Given the description of an element on the screen output the (x, y) to click on. 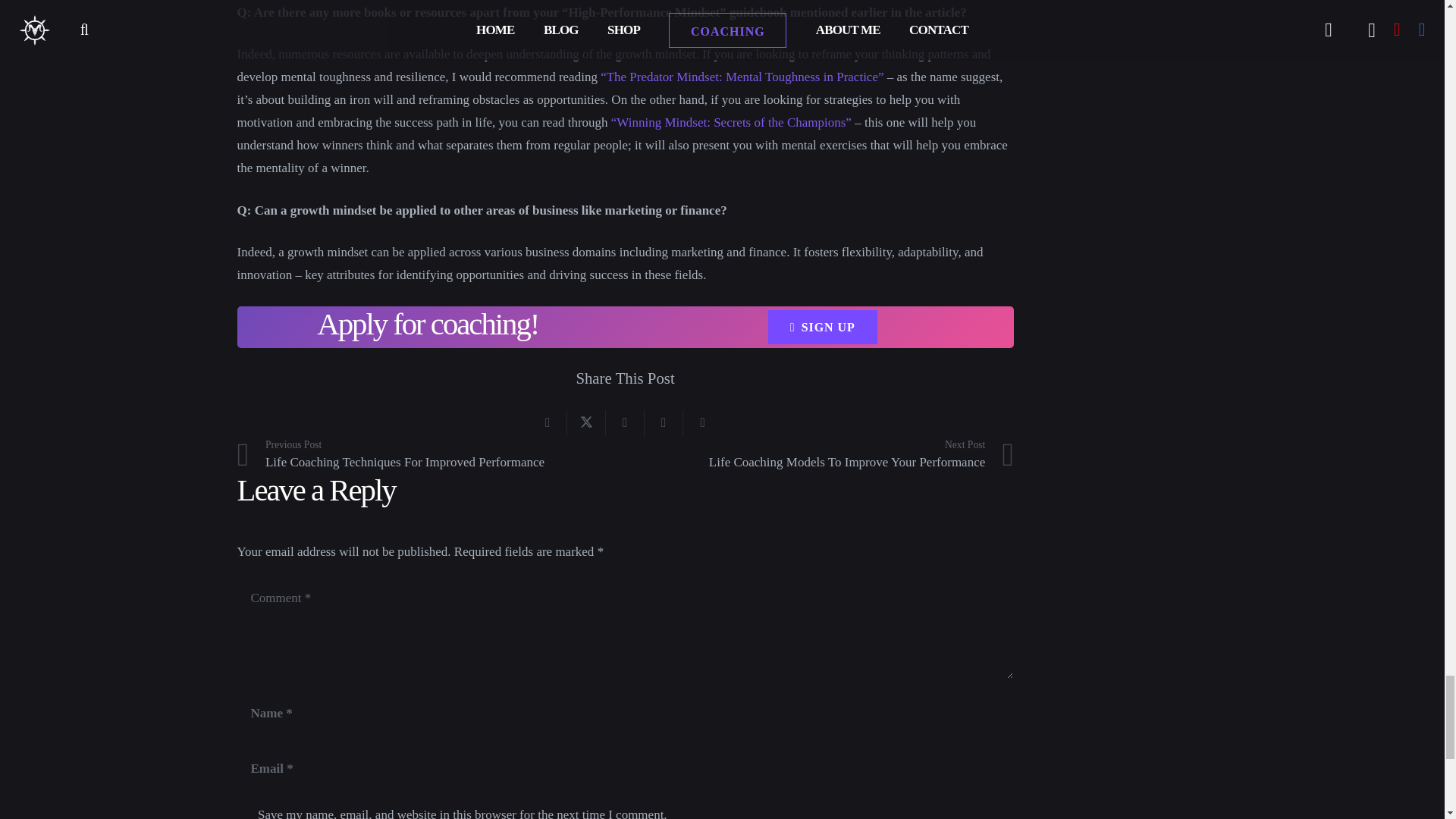
Share this (625, 422)
Share this (702, 422)
1 (243, 813)
Pin this (663, 422)
Life Coaching Models To Improve Your Performance (819, 454)
Tweet this (586, 422)
Life Coaching Techniques For Improved Performance (429, 454)
Share this (547, 422)
SIGN UP (822, 326)
